Given the description of an element on the screen output the (x, y) to click on. 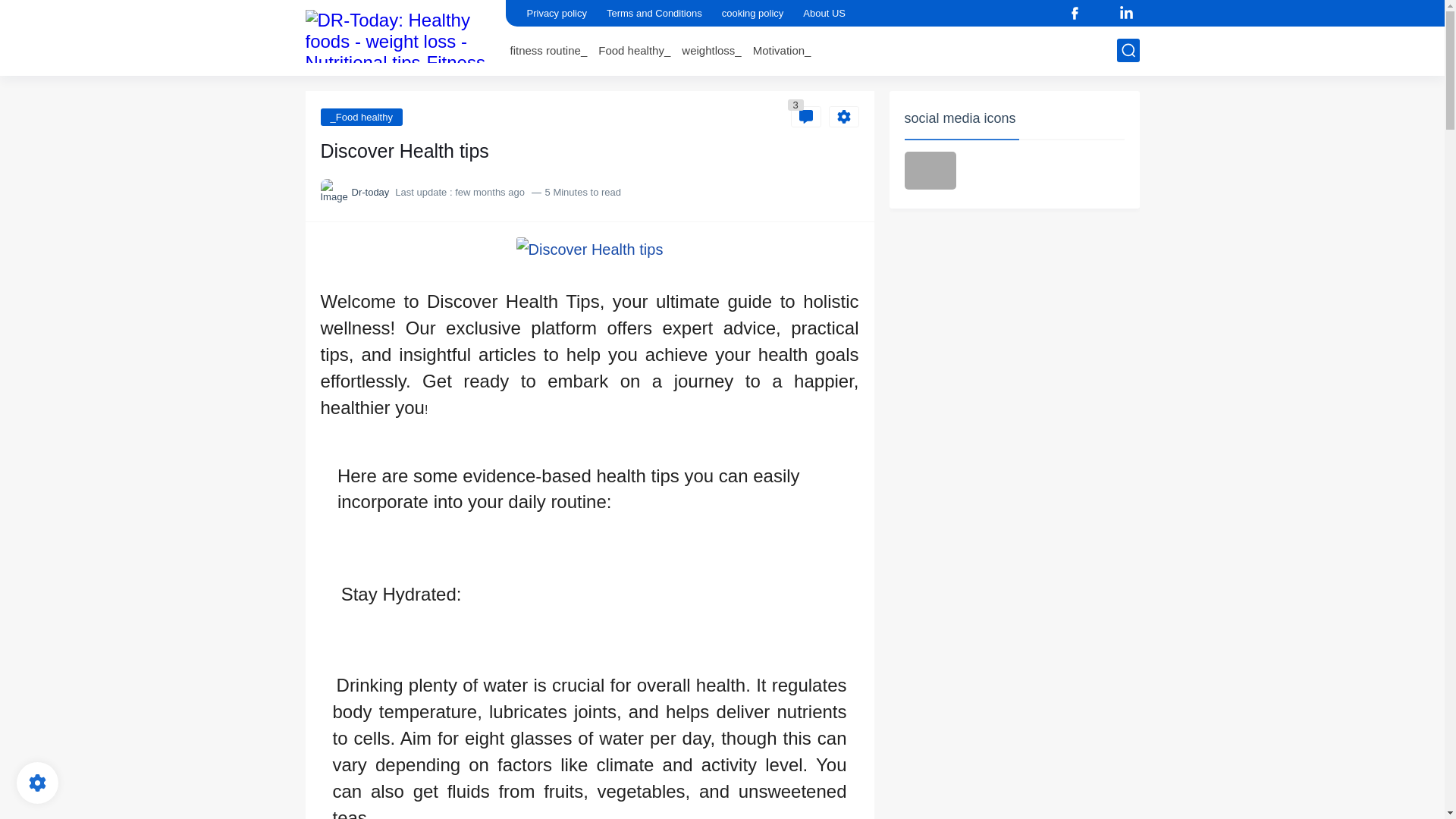
x (1100, 13)
Privacy policy (555, 12)
3 (805, 116)
facebook (1074, 13)
About US (823, 12)
Terms and Conditions (653, 12)
cooking policy (753, 12)
linkedin (1126, 13)
Discover Health tips (589, 248)
